Given the description of an element on the screen output the (x, y) to click on. 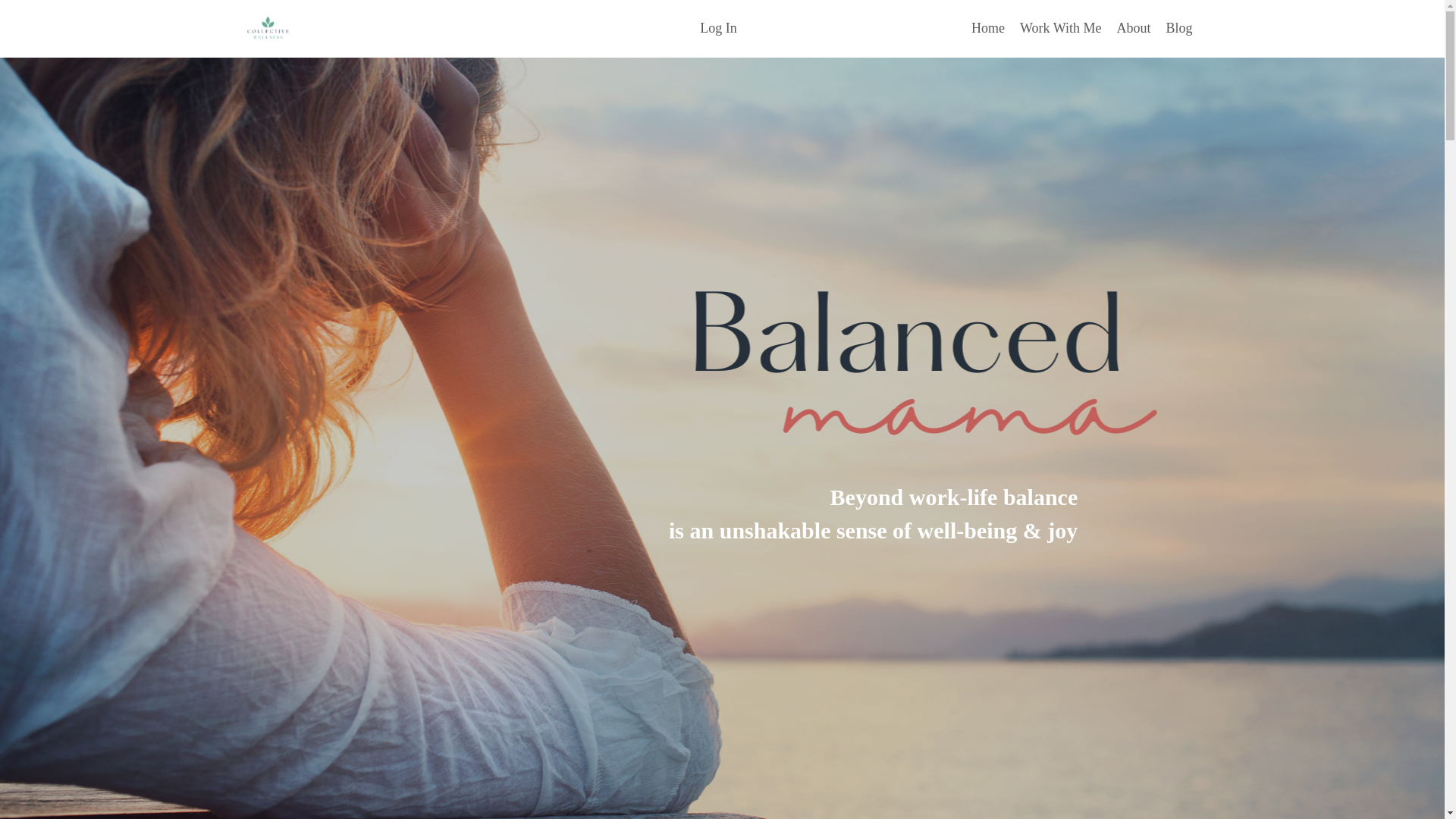
Log In (718, 28)
Work With Me (1060, 28)
Blog (1179, 28)
About (1133, 28)
Home (987, 28)
